Given the description of an element on the screen output the (x, y) to click on. 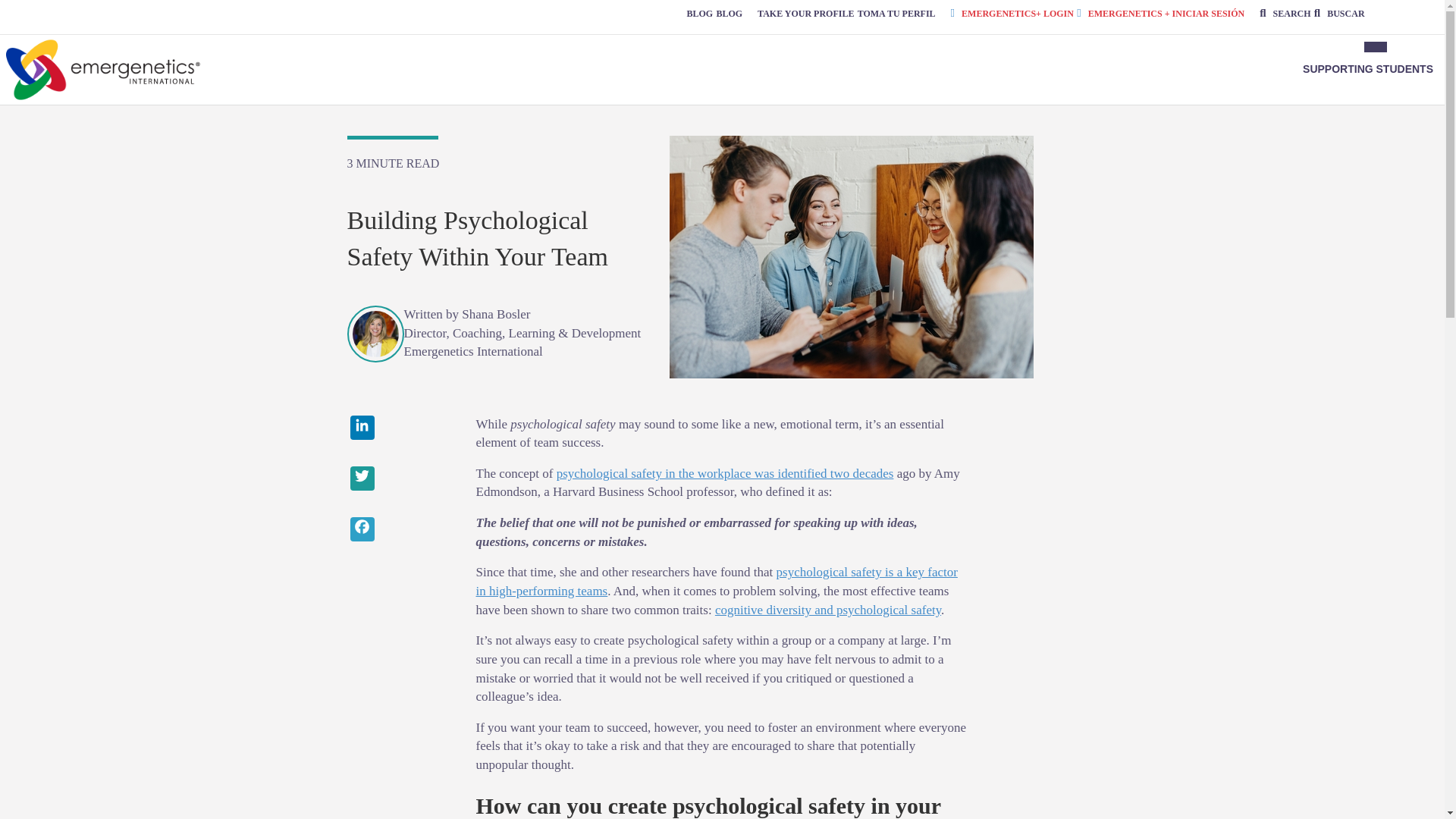
BUSCAR (1339, 13)
BLOG (699, 13)
LinkedIn (399, 429)
TAKE YOUR PROFILE (805, 13)
Twitter (399, 480)
BLOG (729, 13)
SEARCH (1284, 13)
TOMA TU PERFIL (896, 13)
Facebook (399, 530)
